Given the description of an element on the screen output the (x, y) to click on. 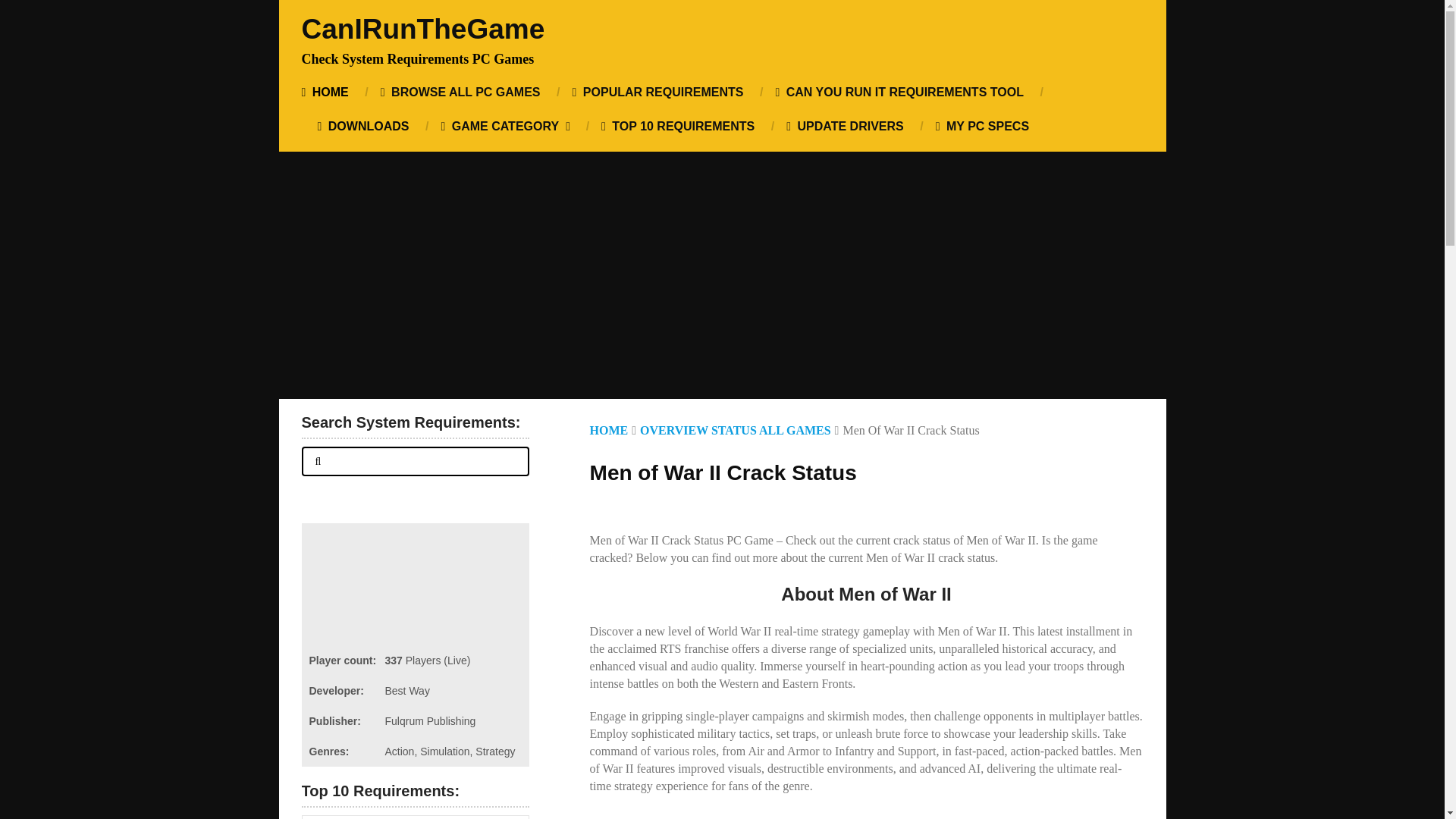
CAN YOU RUN IT REQUIREMENTS TOOL (898, 91)
CanIRunTheGame (422, 29)
GAME CATEGORY (505, 126)
BROWSE ALL PC GAMES (460, 91)
DOWNLOADS (363, 126)
UPDATE DRIVERS (844, 126)
OVERVIEW STATUS ALL GAMES (735, 430)
HOME (608, 430)
POPULAR REQUIREMENTS (658, 91)
HOME (333, 91)
TOP 10 REQUIREMENTS (677, 126)
MY PC SPECS (982, 126)
